Given the description of an element on the screen output the (x, y) to click on. 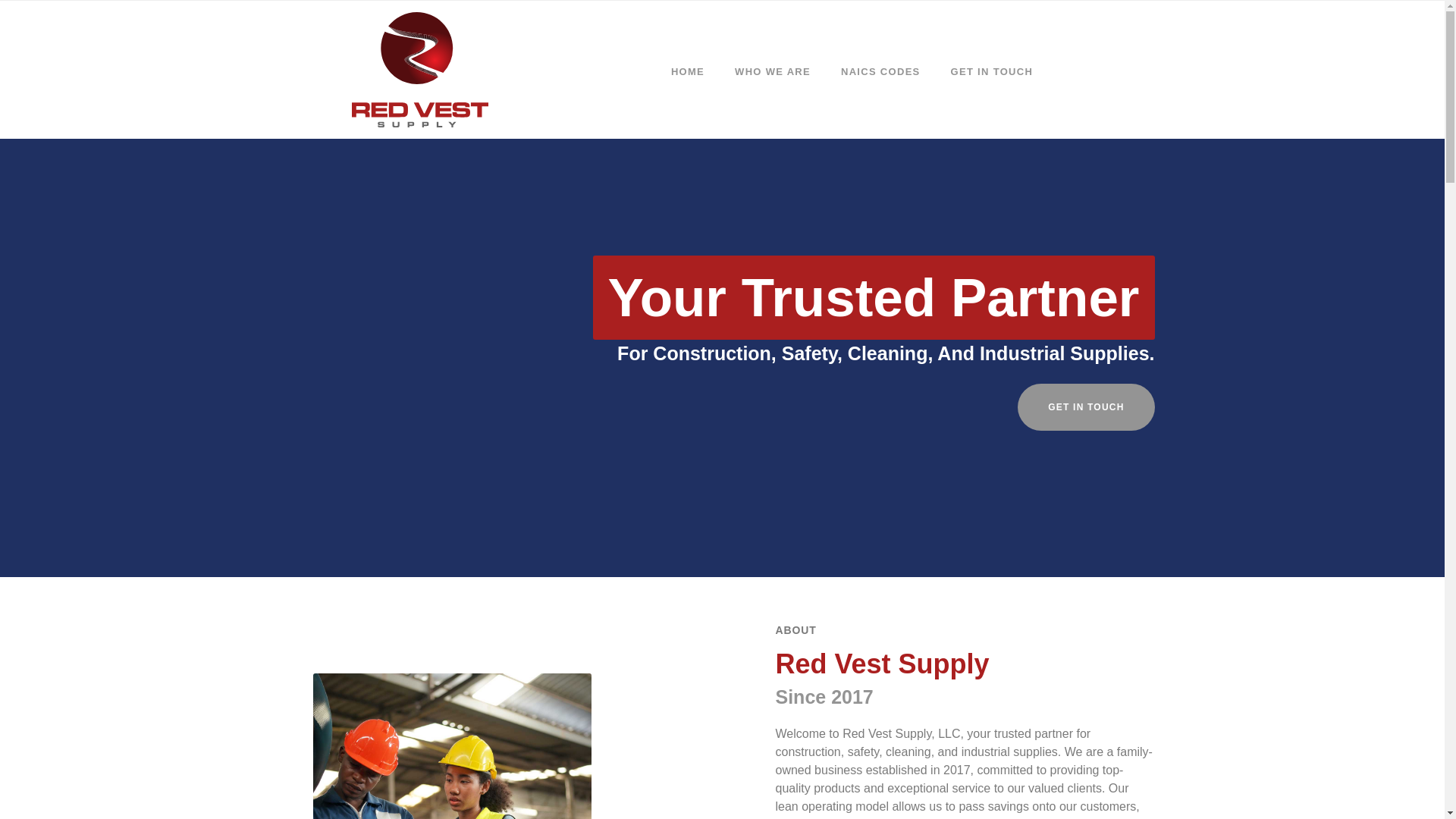
HOME (687, 71)
GET IN TOUCH (992, 71)
WHO WE ARE (772, 71)
Home 1 (452, 746)
NAICS CODES (880, 71)
GET IN TOUCH (1085, 407)
